Given the description of an element on the screen output the (x, y) to click on. 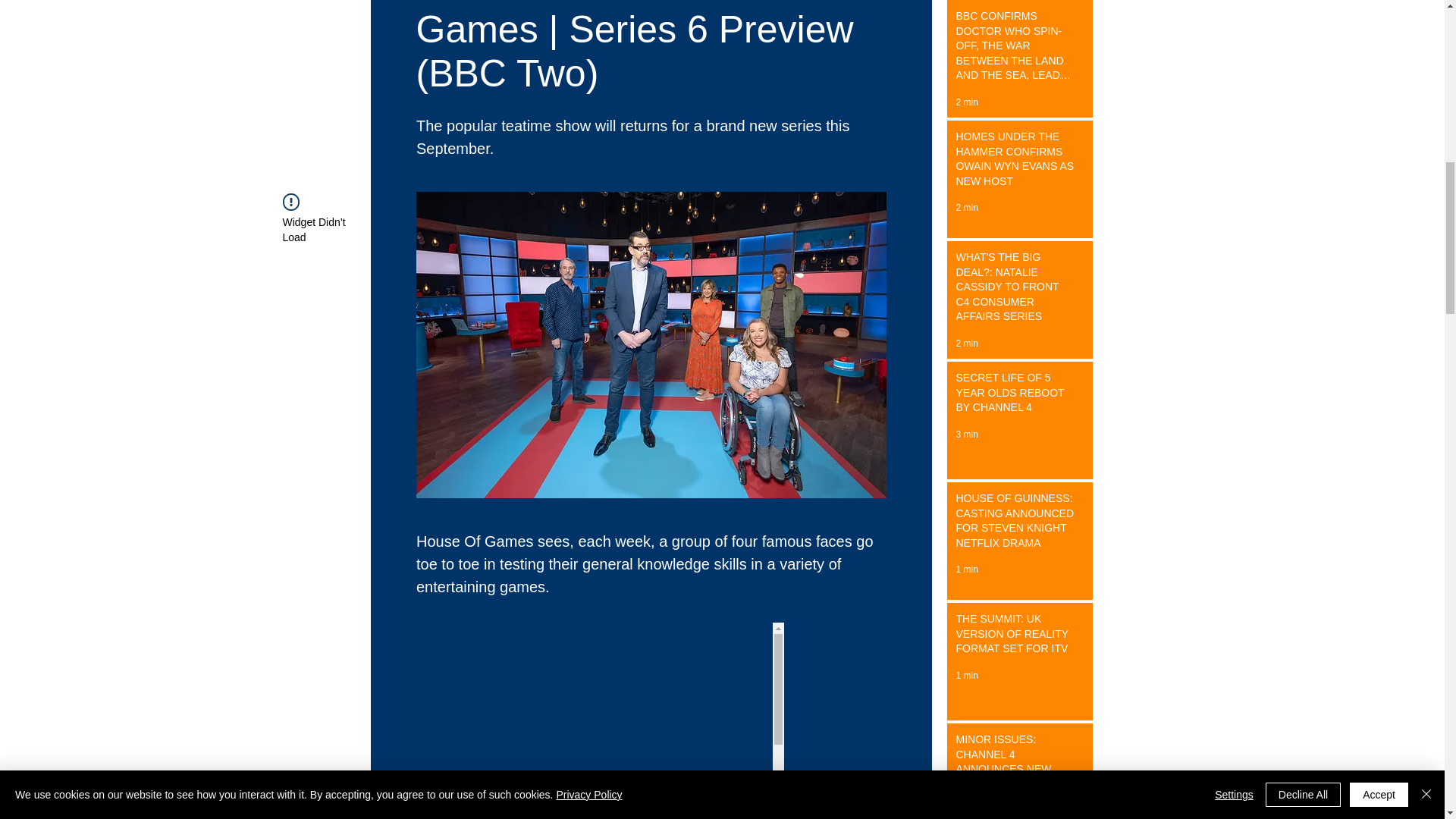
1 min (965, 675)
HOMES UNDER THE HAMMER CONFIRMS OWAIN WYN EVANS AS NEW HOST (1014, 161)
SECRET LIFE OF 5 YEAR OLDS REBOOT BY CHANNEL 4 (1014, 396)
2 min (965, 810)
3 min (965, 434)
2 min (965, 343)
remote content (651, 720)
2 min (965, 207)
1 min (965, 569)
2 min (965, 102)
